Given the description of an element on the screen output the (x, y) to click on. 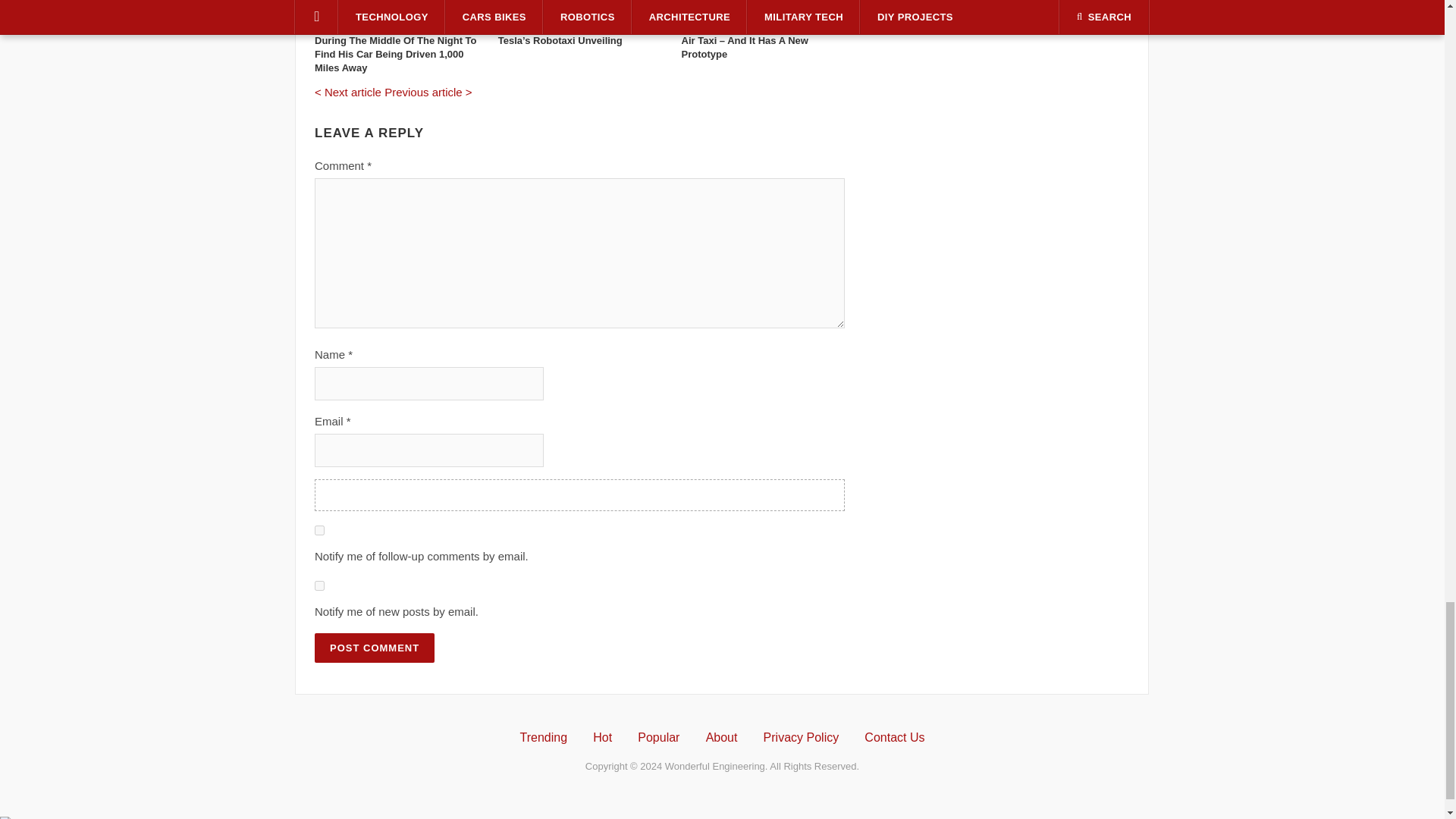
subscribe (319, 530)
subscribe (319, 585)
Post Comment (373, 647)
